Given the description of an element on the screen output the (x, y) to click on. 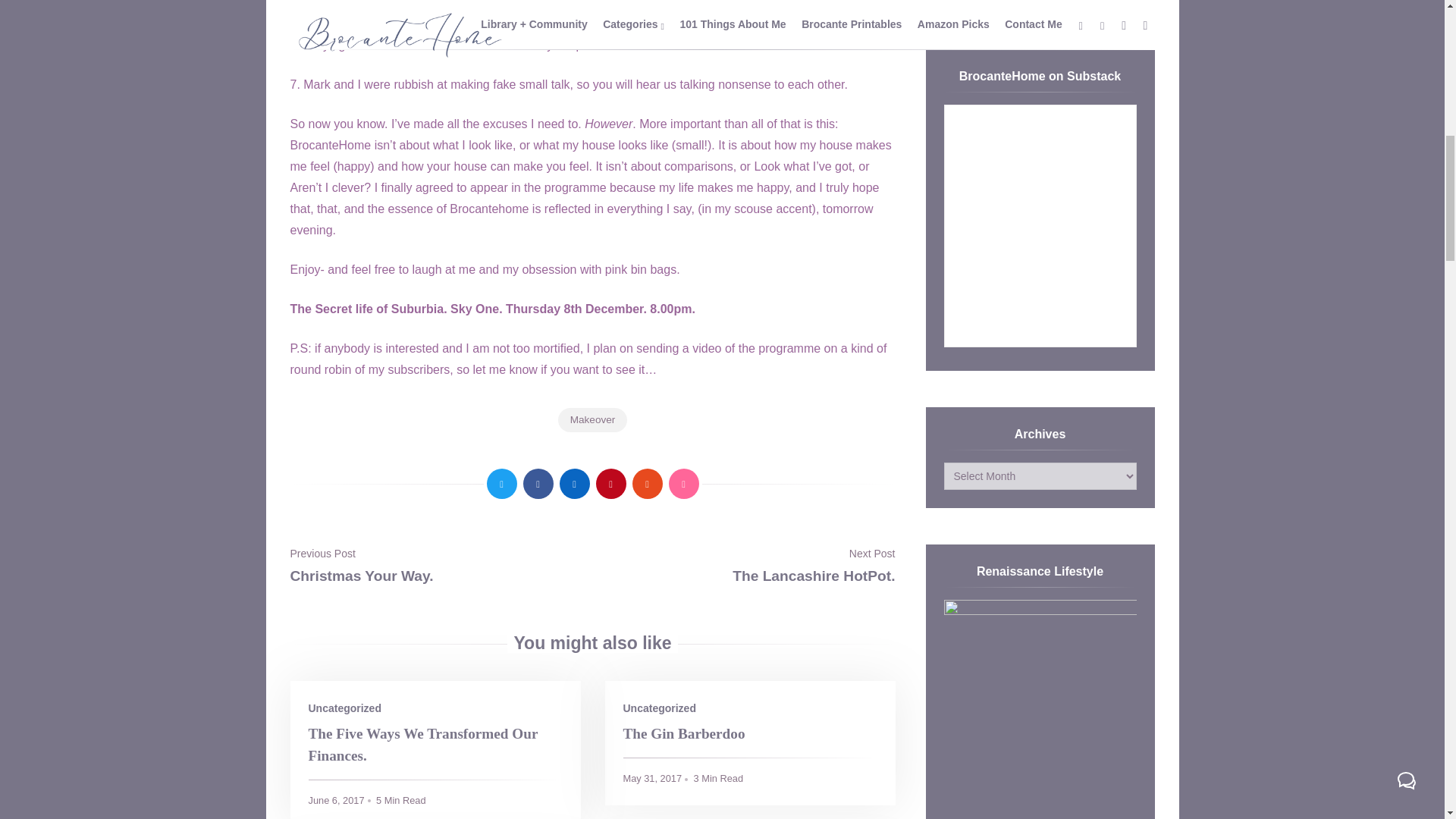
Share on LinkedIn (574, 483)
Tweet This! (501, 483)
Makeover (592, 419)
Pin this! (610, 483)
Share on Facebook (537, 483)
